Given the description of an element on the screen output the (x, y) to click on. 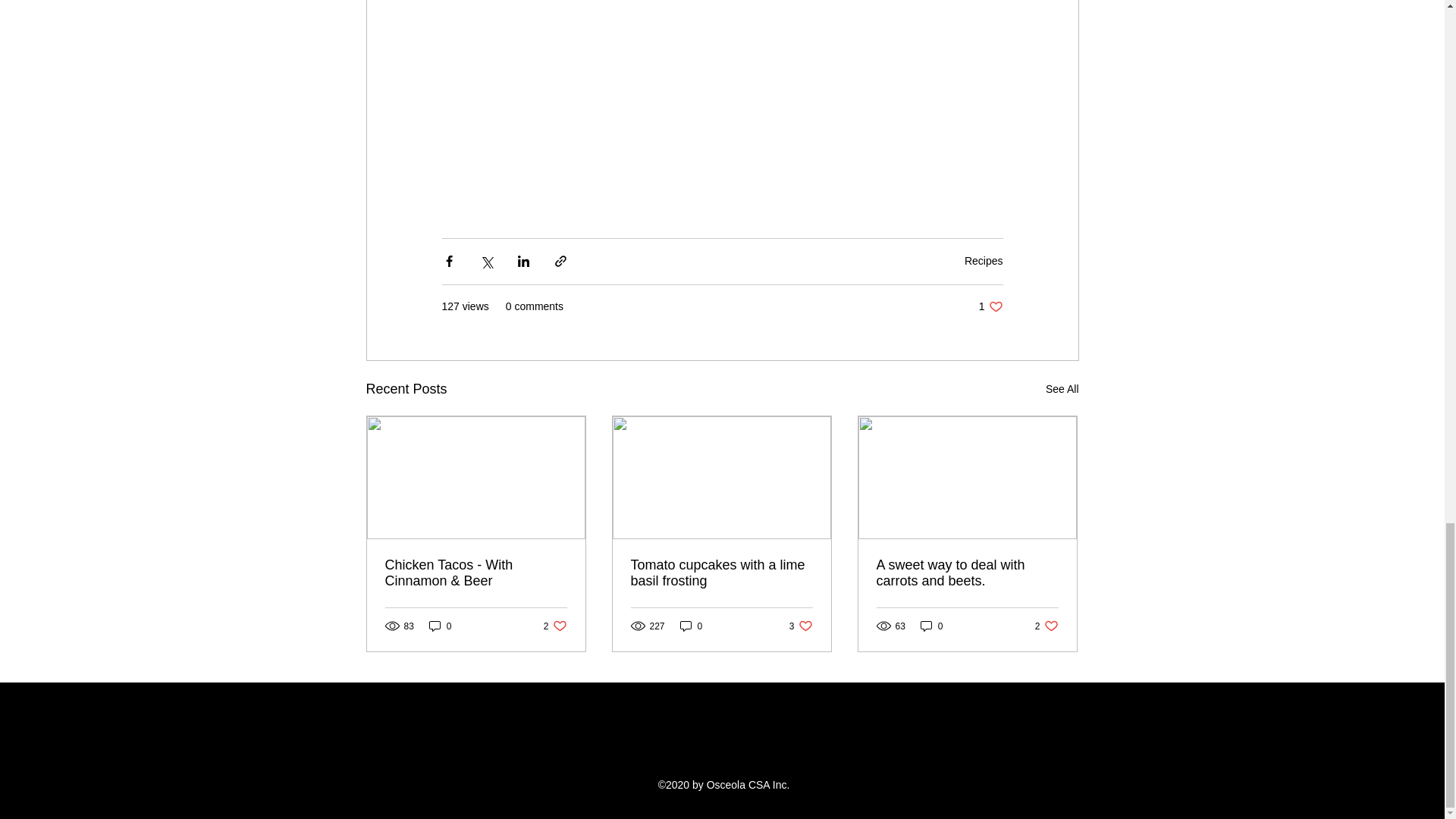
See All (1046, 626)
0 (555, 626)
Recipes (1061, 389)
A sweet way to deal with carrots and beets. (990, 306)
Tomato cupcakes with a lime basil frosting (440, 626)
0 (983, 260)
0 (967, 572)
